Given the description of an element on the screen output the (x, y) to click on. 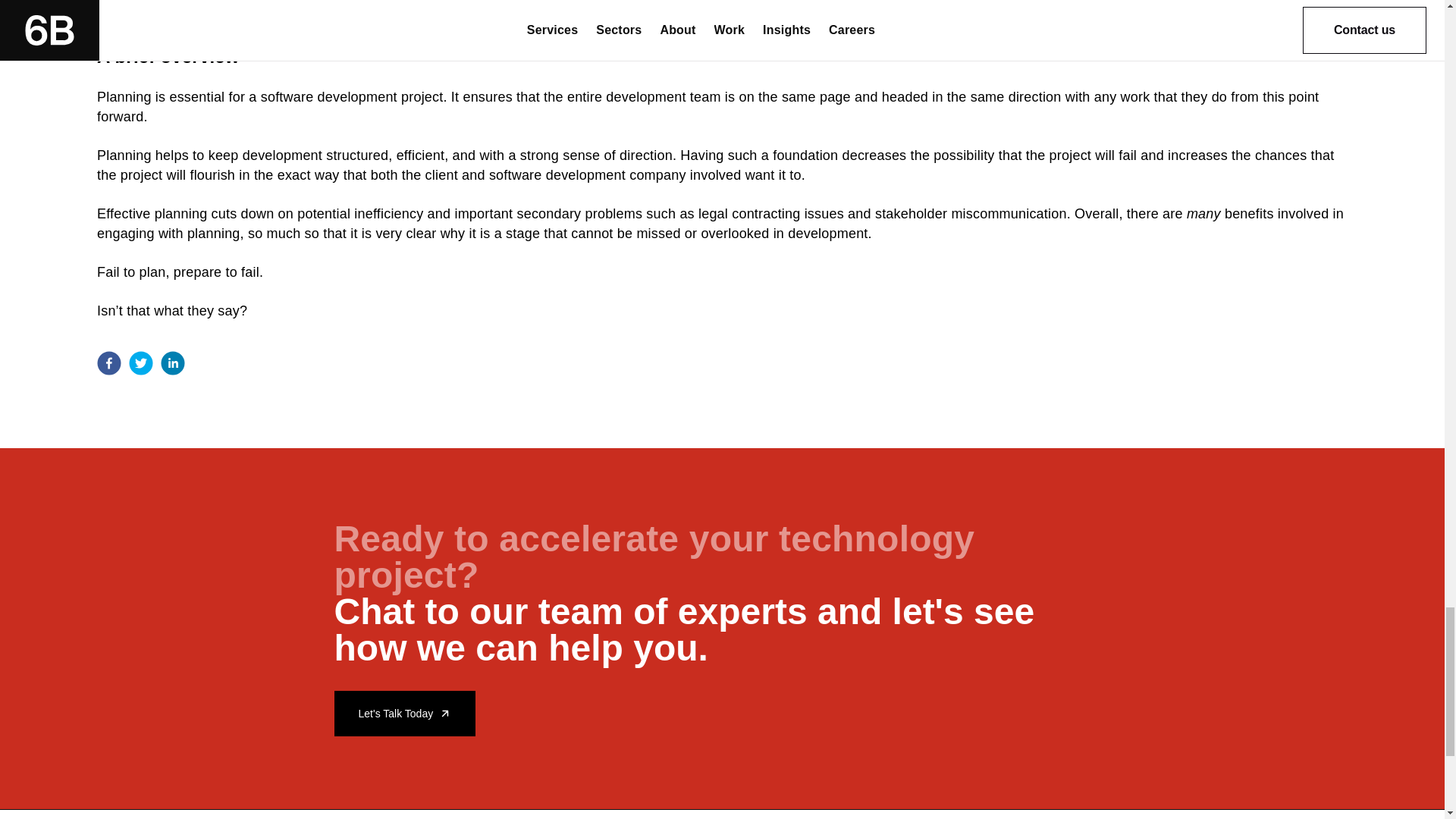
Let's Talk Today (404, 713)
